Given the description of an element on the screen output the (x, y) to click on. 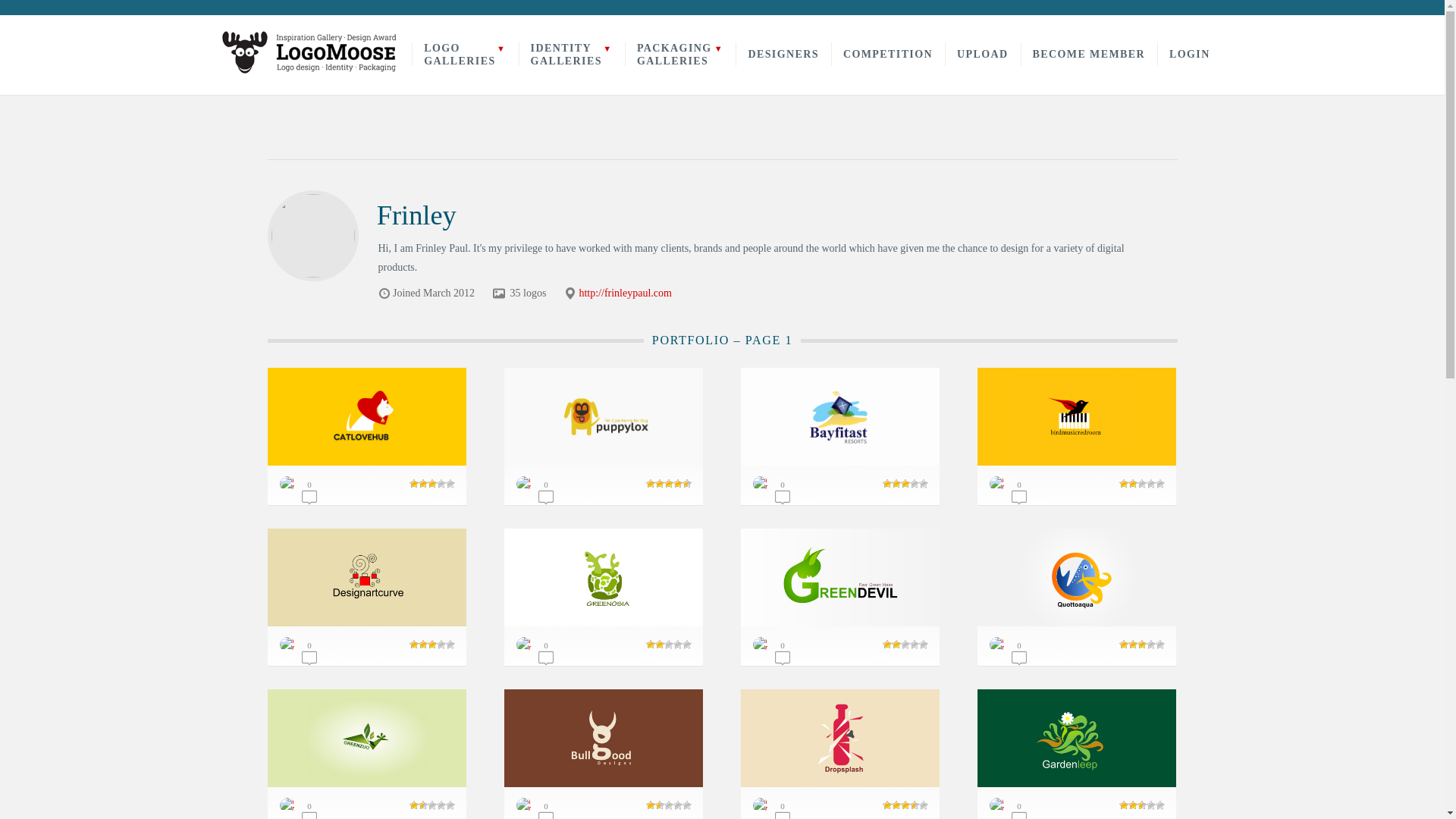
Upload (680, 55)
Identity Galleries (982, 55)
UPLOAD (571, 55)
COMPETITION (982, 55)
DESIGNERS (887, 55)
Logo Galleries (783, 55)
Identity Galleries (571, 55)
Logo Designers (465, 55)
LogoMoose Competition (680, 55)
Become Member (783, 55)
BECOME MEMBER (465, 55)
